Given the description of an element on the screen output the (x, y) to click on. 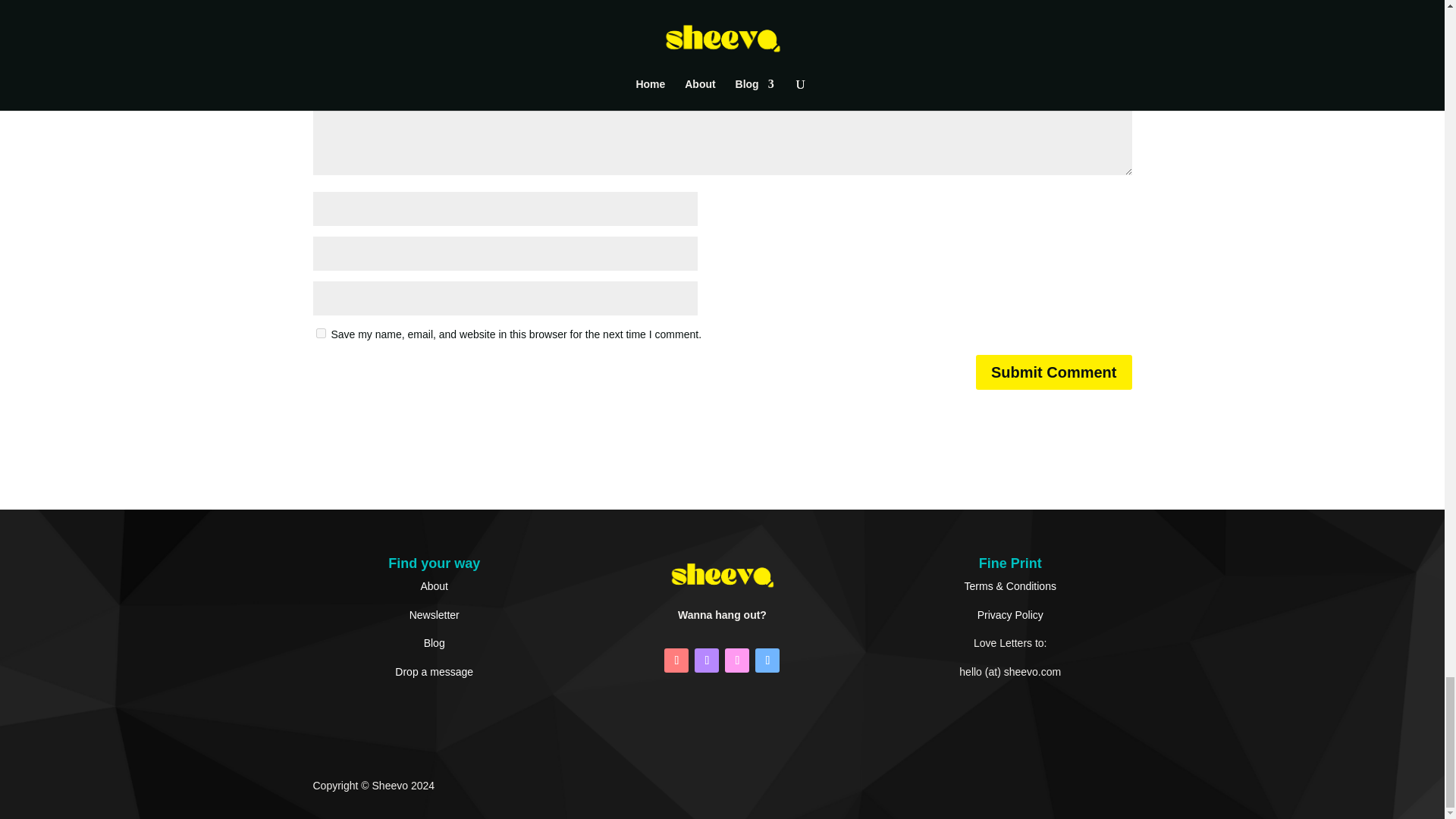
Follow on Youtube (675, 660)
Follow on TikTok (737, 660)
Submit Comment (1053, 371)
Drop a message (433, 671)
Blog (434, 643)
Submit Comment (1053, 371)
sheevo logo life design (722, 574)
yes (319, 333)
Follow on X (766, 660)
Newsletter (434, 614)
